Given the description of an element on the screen output the (x, y) to click on. 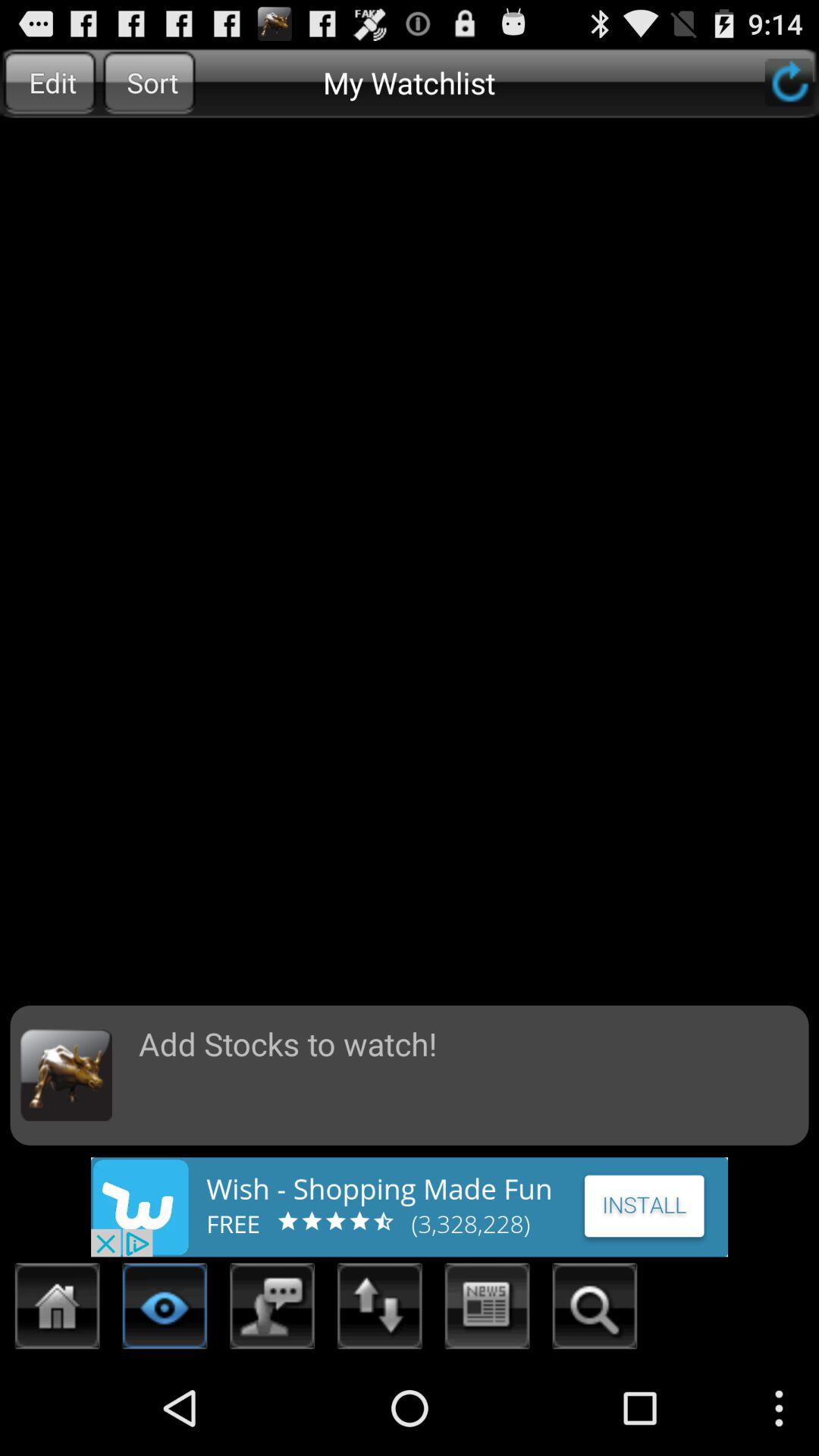
chris (594, 1310)
